Given the description of an element on the screen output the (x, y) to click on. 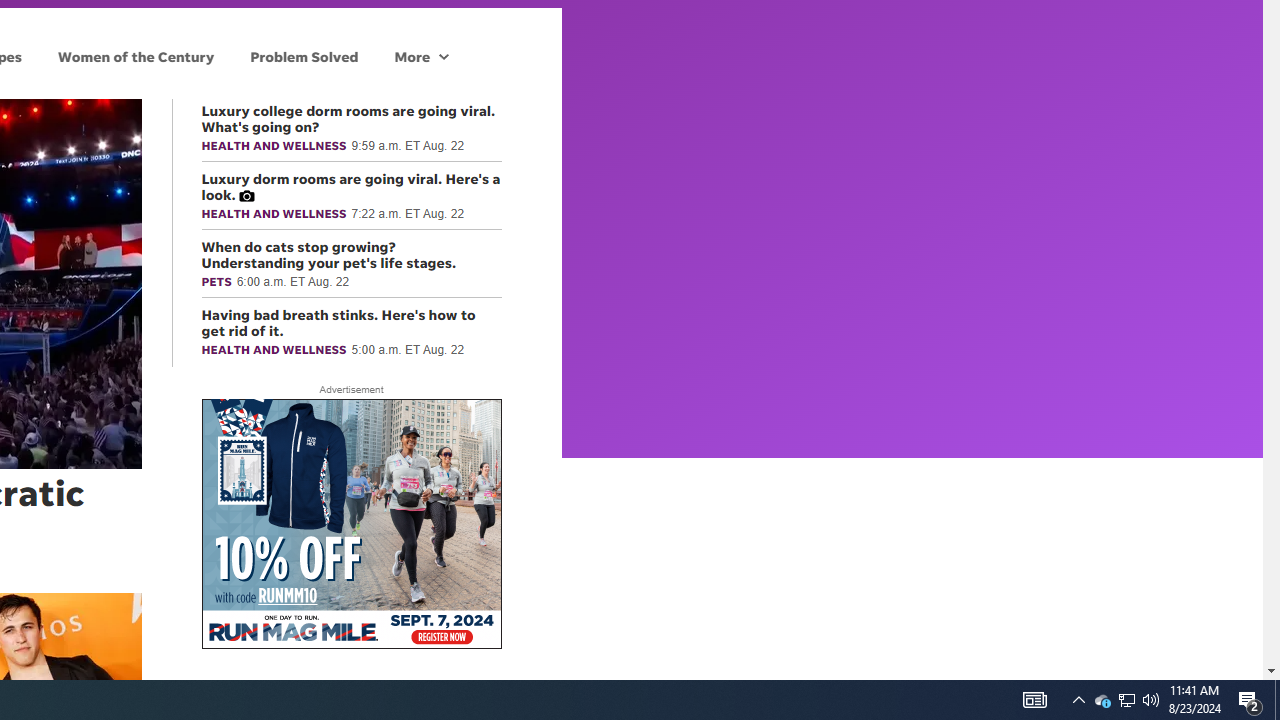
Problem Solved (304, 56)
More life navigation (421, 56)
Women of the Century (136, 56)
AutomationID: aw0 (350, 525)
